Given the description of an element on the screen output the (x, y) to click on. 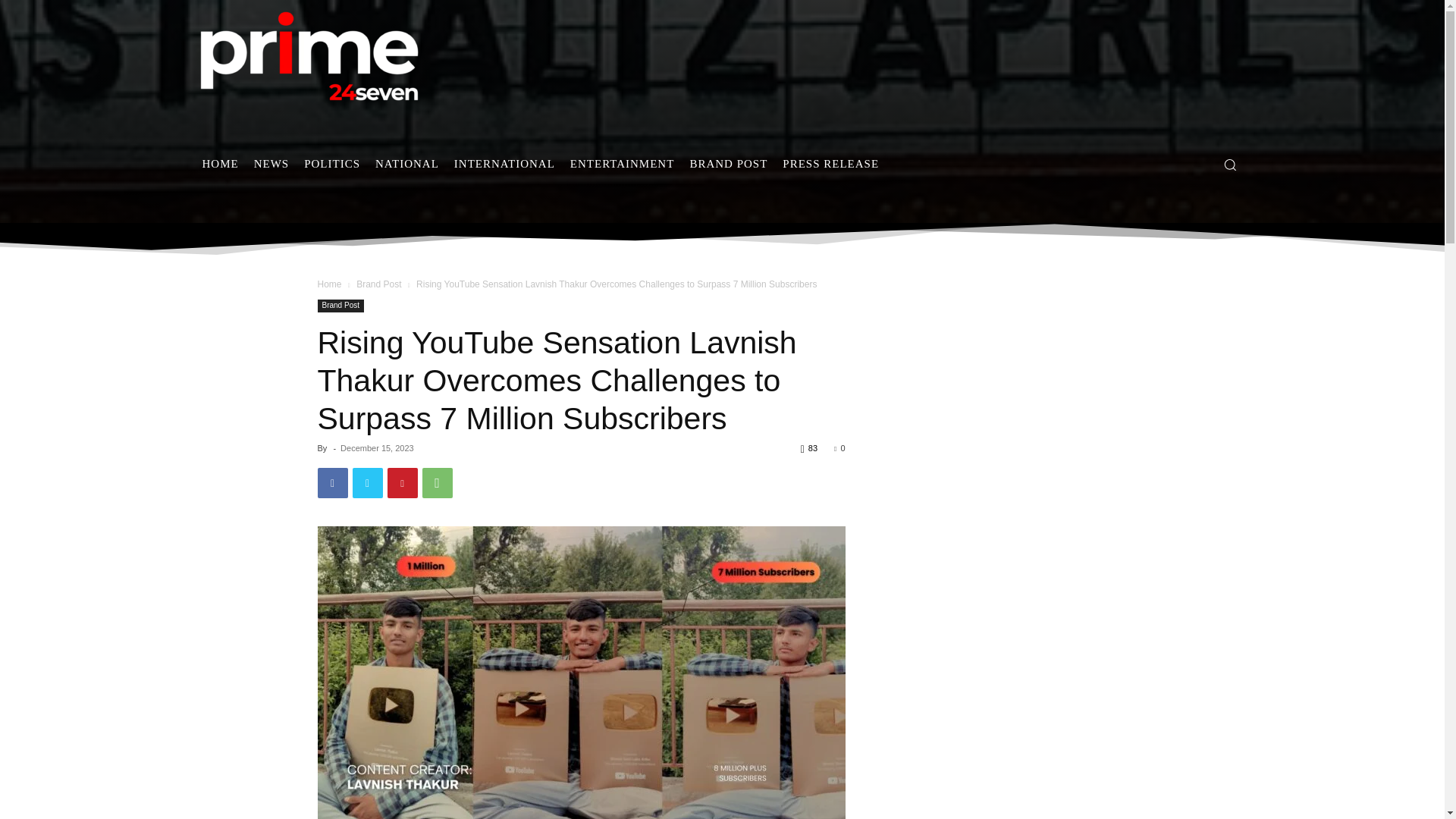
View all posts in Brand Post (378, 284)
Brand Post (378, 284)
BRAND POST (727, 163)
Twitter (366, 482)
POLITICS (332, 163)
NEWS (271, 163)
Pinterest (401, 482)
Home (328, 284)
PRESS RELEASE (830, 163)
HOME (219, 163)
0 (839, 447)
INTERNATIONAL (504, 163)
Facebook (332, 482)
ENTERTAINMENT (622, 163)
